Given the description of an element on the screen output the (x, y) to click on. 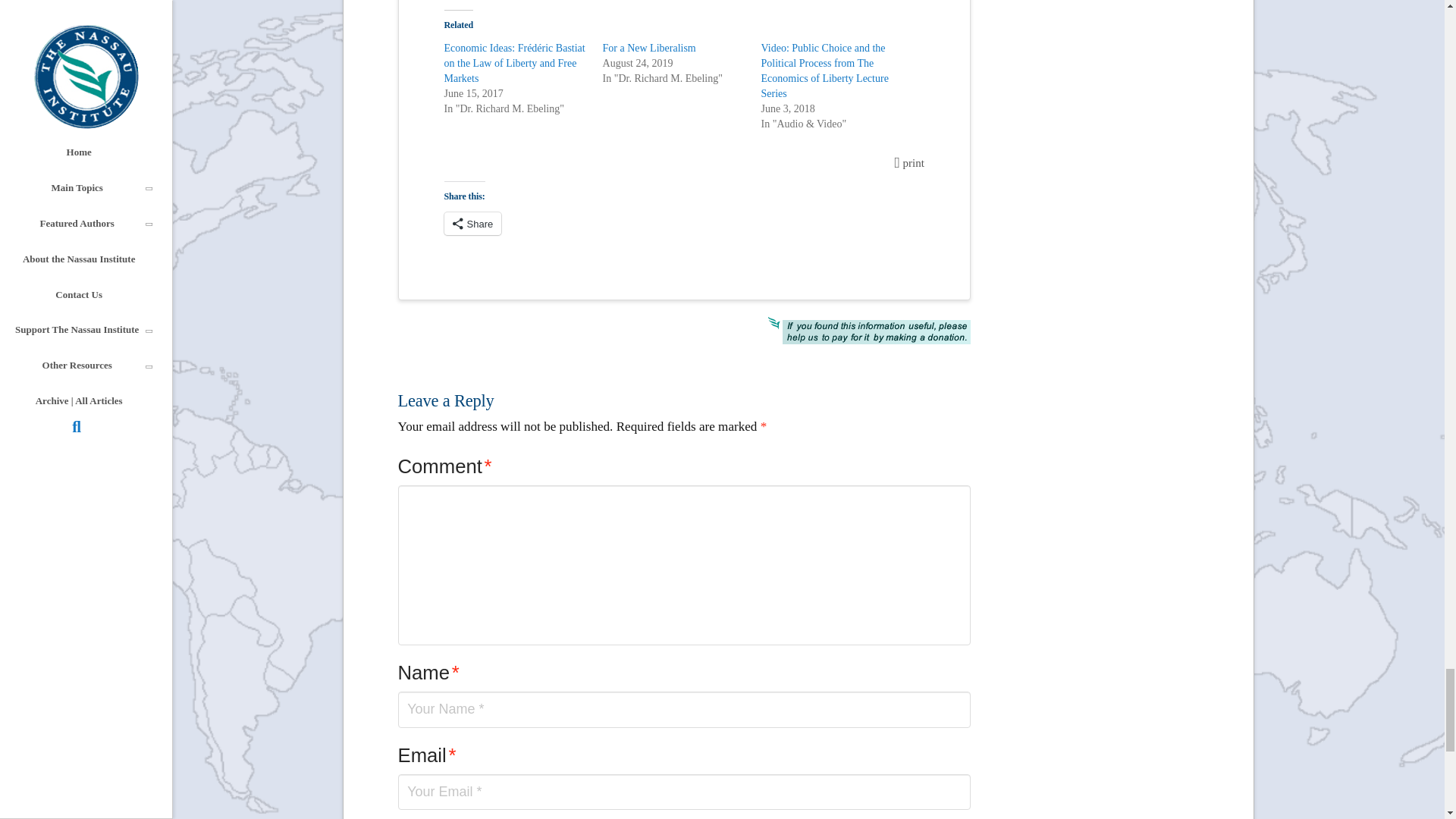
For a New Liberalism (648, 48)
